Given the description of an element on the screen output the (x, y) to click on. 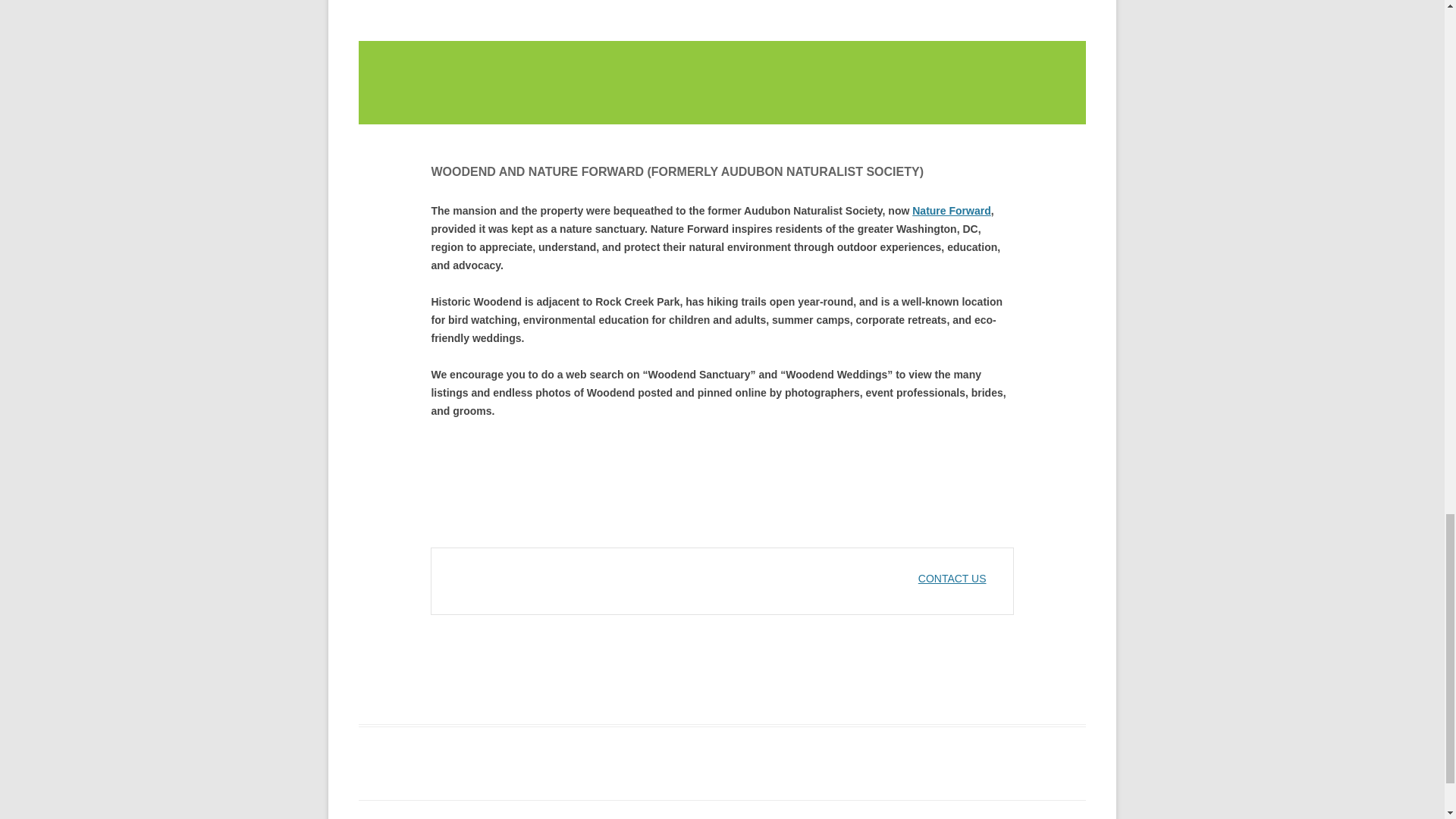
Nature Forward (951, 210)
CONTACT US (952, 578)
